Given the description of an element on the screen output the (x, y) to click on. 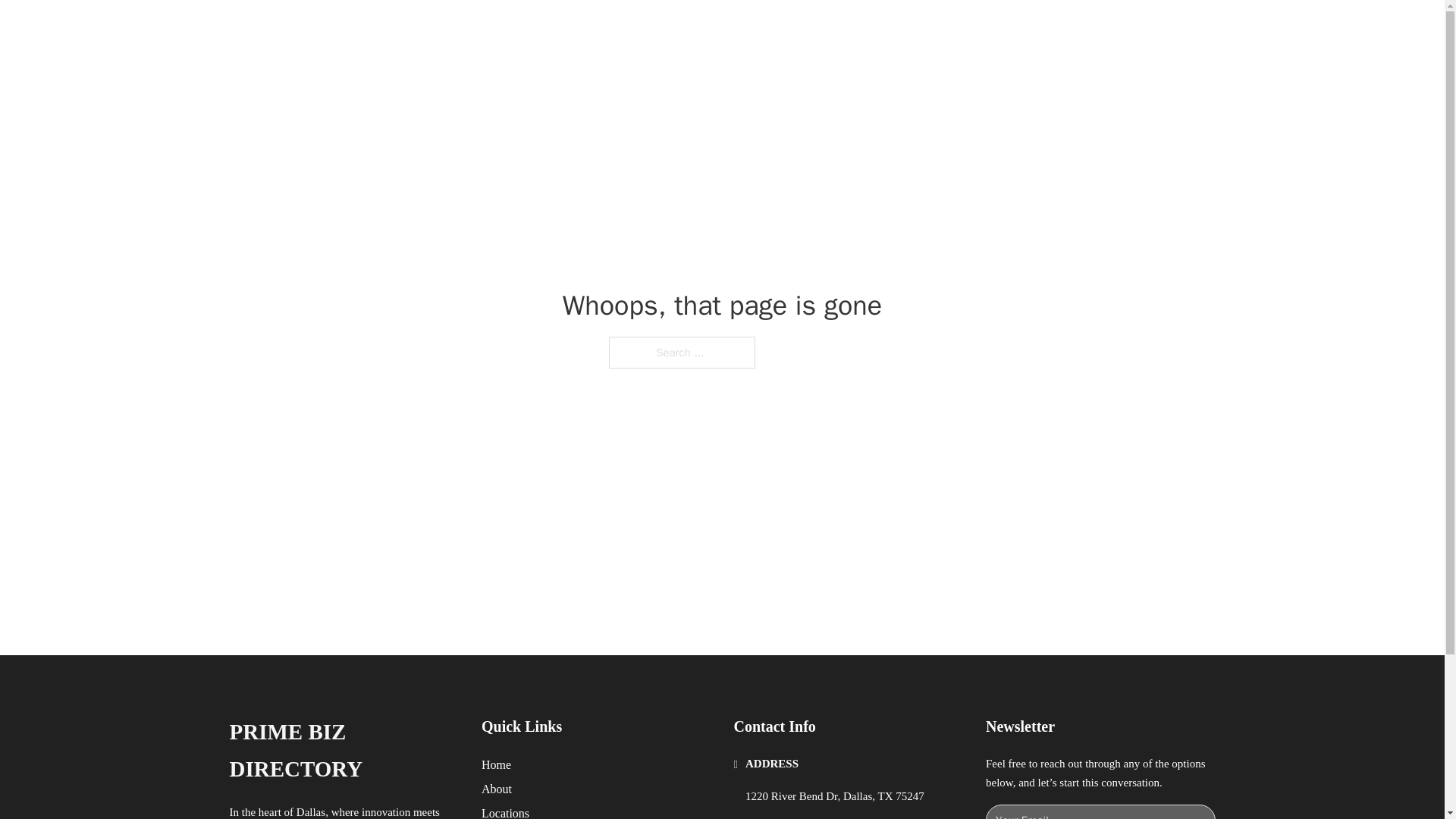
PRIME BIZ DIRECTORY (343, 750)
PRIME BIZ DIRECTORY (421, 28)
Home (496, 764)
HOME (919, 29)
Locations (505, 811)
LOCATIONS (990, 29)
About (496, 788)
